Given the description of an element on the screen output the (x, y) to click on. 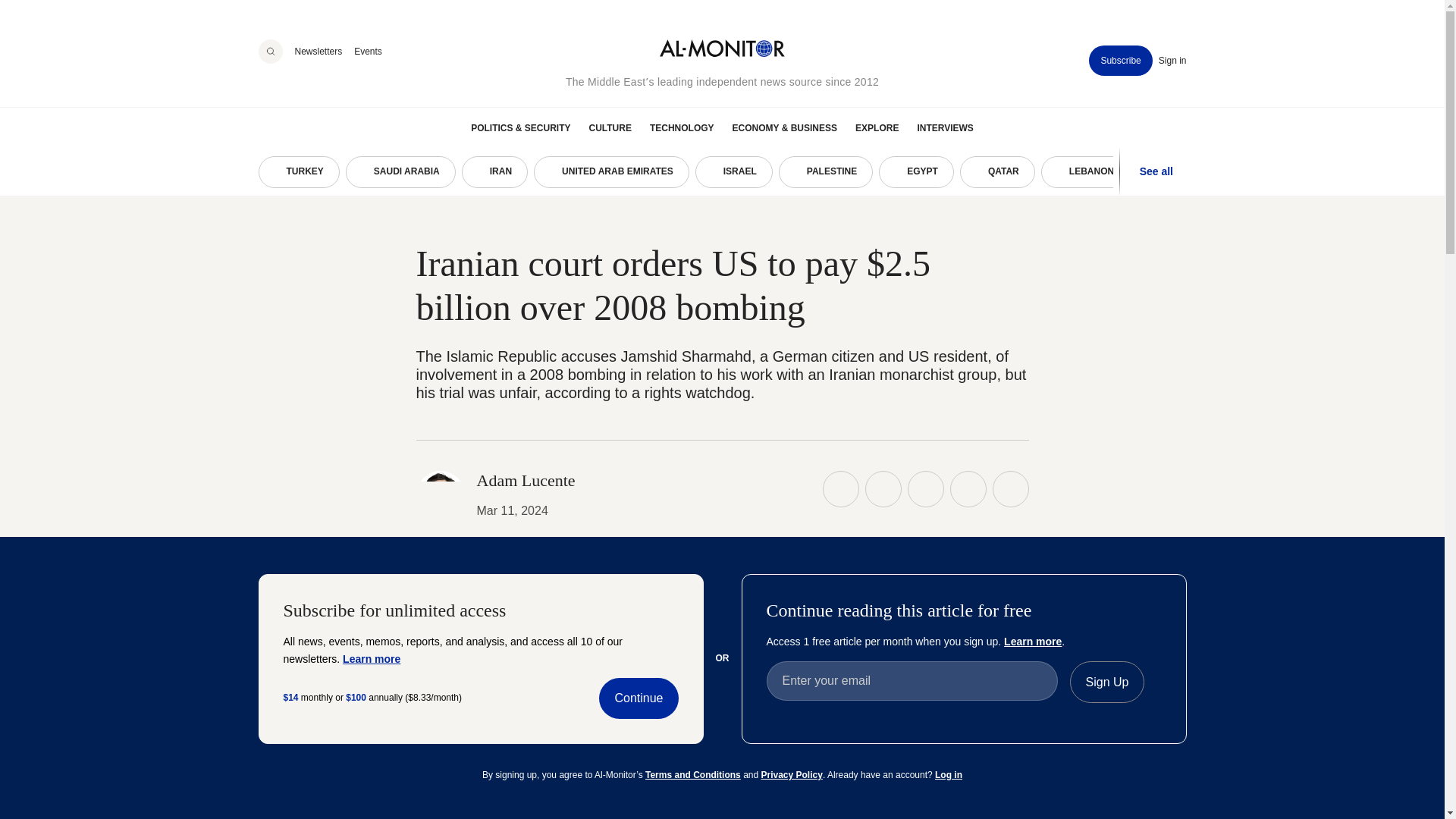
Sign in (1172, 60)
IRAQ (1325, 172)
INTERVIEWS (944, 127)
Subscribe (1120, 60)
Search and explore Al-Monitor (269, 51)
Newsletters (318, 51)
LEBANON (1085, 172)
SYRIA (1249, 172)
QATAR (997, 172)
